Given the description of an element on the screen output the (x, y) to click on. 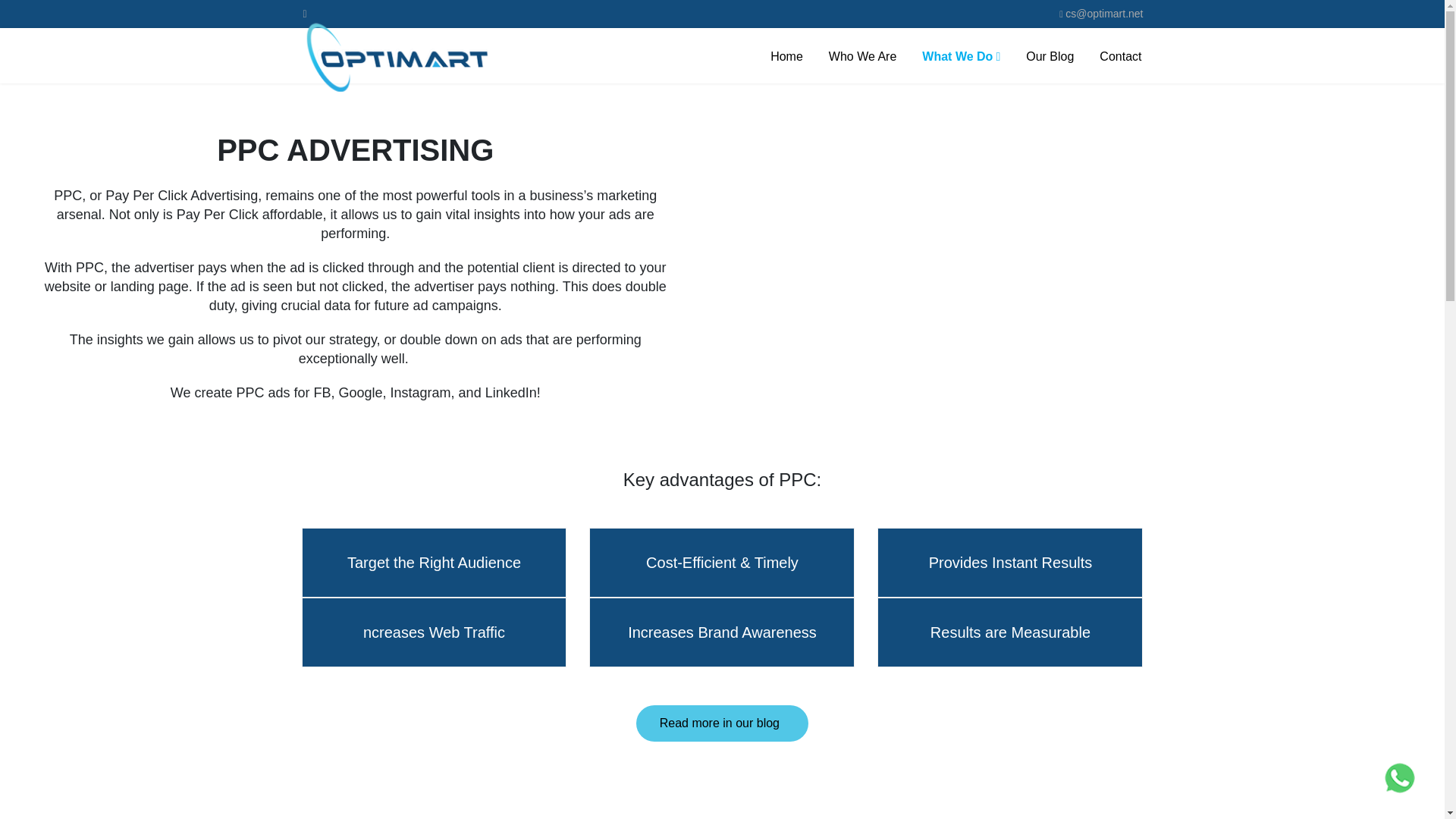
Read more in our blog (722, 723)
What We Do (960, 56)
Contact (1120, 56)
Home (786, 56)
Who We Are (862, 56)
Our Blog (1049, 56)
